Given the description of an element on the screen output the (x, y) to click on. 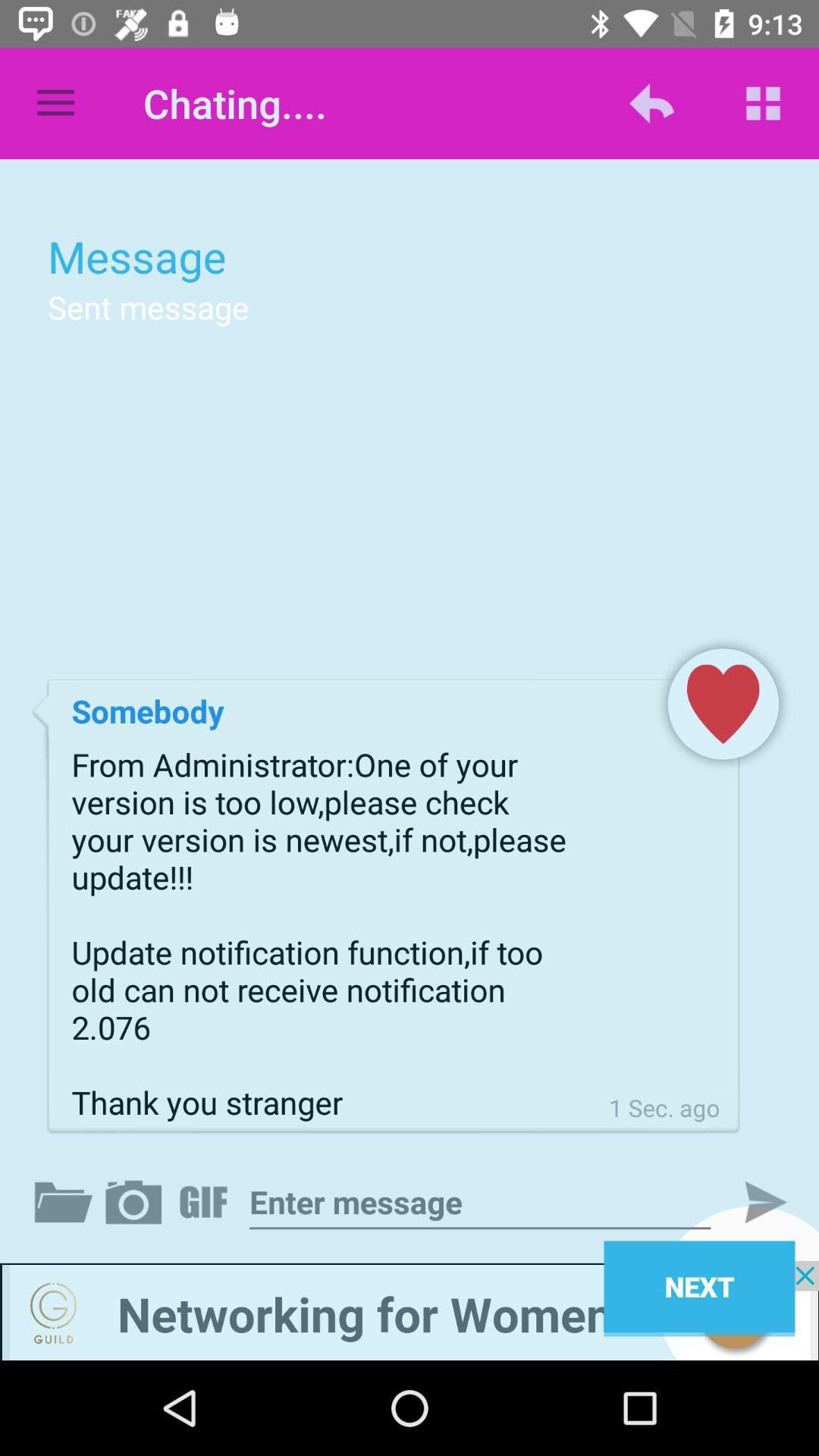
click to take a picture (136, 1202)
